Given the description of an element on the screen output the (x, y) to click on. 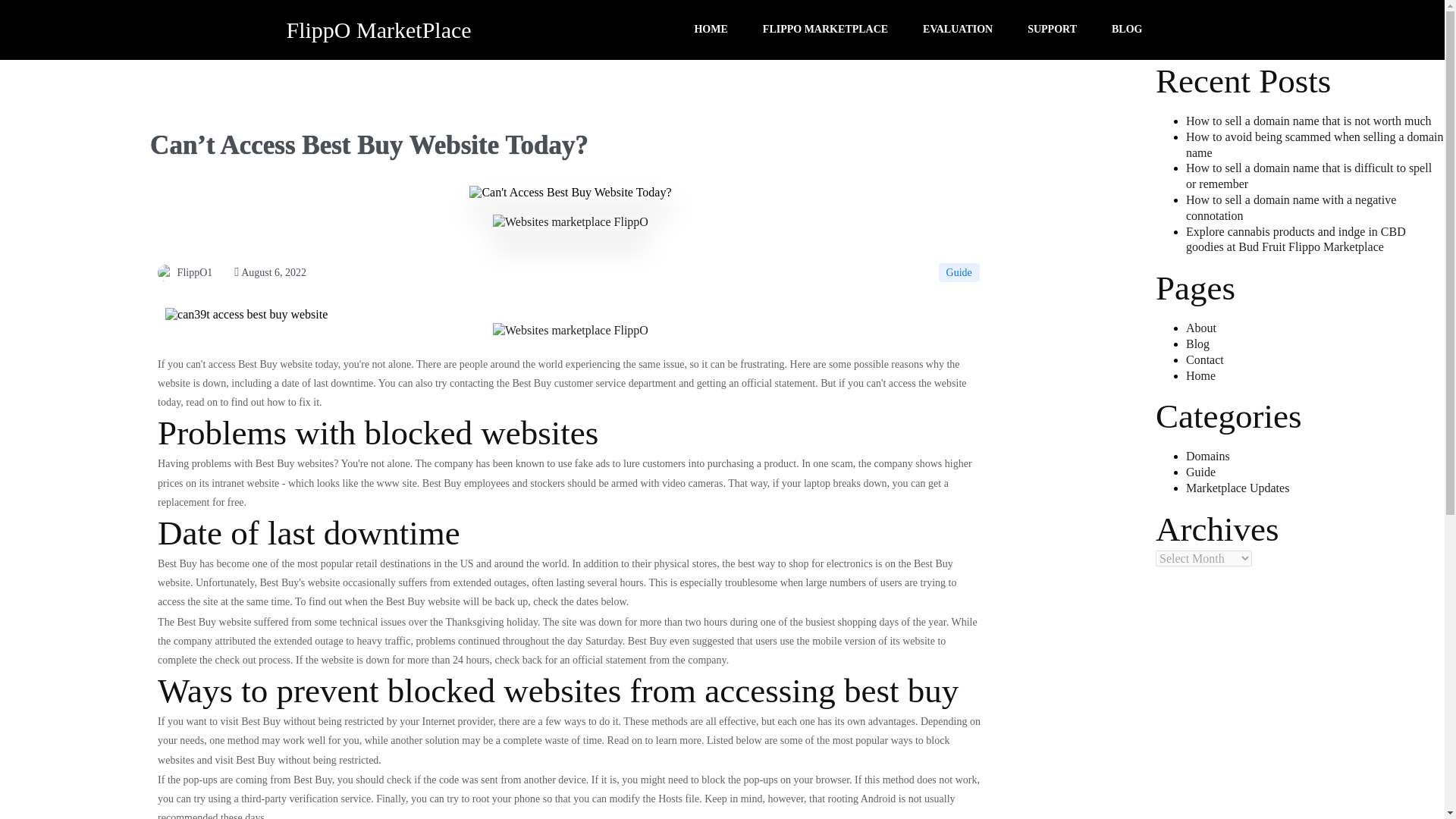
How to avoid being scammed when selling a domain name (1314, 144)
SUPPORT (1052, 29)
Can't Access Best Buy Website Today? (165, 272)
Domains (1208, 455)
Can't Access Best Buy Website Today? (246, 314)
Home (1200, 375)
How to sell a domain name with a negative connotation (1291, 207)
HOME (710, 29)
cant-access-best-buy-website-today (569, 192)
How to sell a domain name that is not worth much (1308, 120)
